Given the description of an element on the screen output the (x, y) to click on. 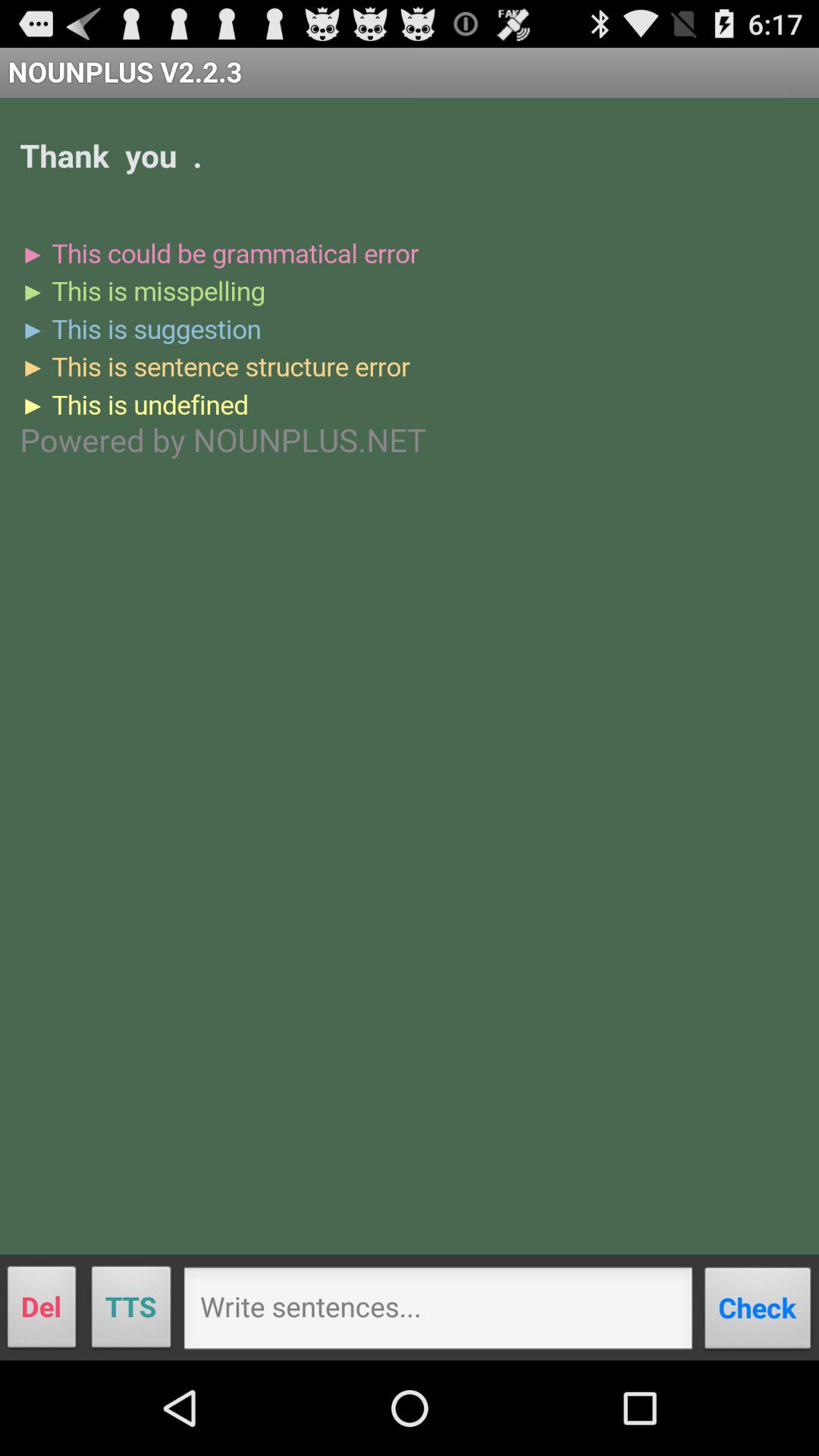
press here to write (438, 1312)
